Given the description of an element on the screen output the (x, y) to click on. 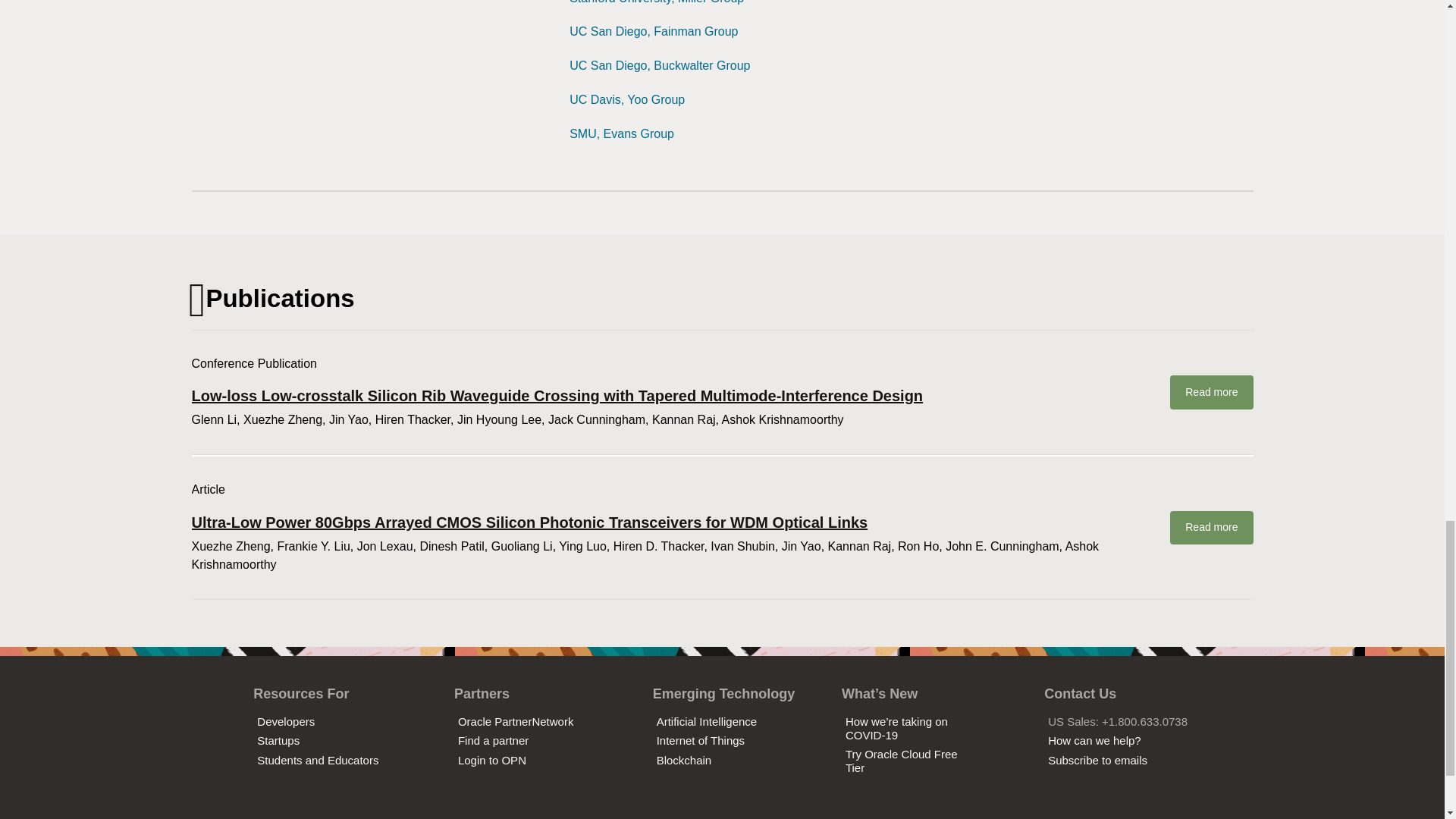
UC San Diego, Buckwalter Group (659, 65)
Stanford University, Miller Group (656, 2)
UC Davis, Yoo Group (626, 99)
Read more (1211, 528)
SMU, Evans Group (621, 133)
UC San Diego, Fainman Group (653, 31)
Read more (1211, 392)
